Given the description of an element on the screen output the (x, y) to click on. 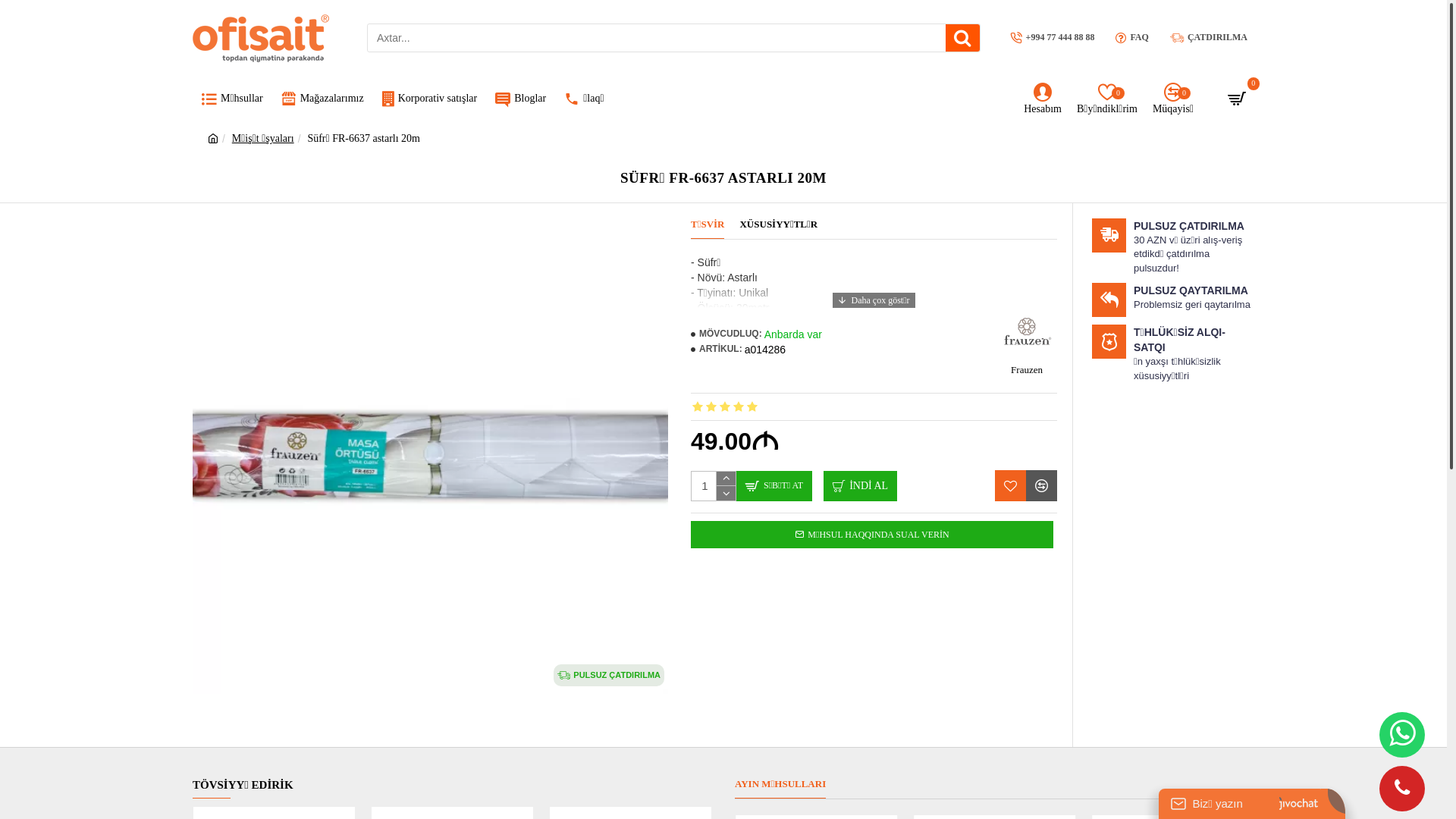
+994 77 444 88 88 Element type: text (1052, 37)
Ofisait Element type: hover (260, 37)
0 Element type: text (1238, 99)
FAQ Element type: text (1131, 37)
Bloglar Element type: text (520, 99)
Frauzen Element type: text (1026, 342)
